Given the description of an element on the screen output the (x, y) to click on. 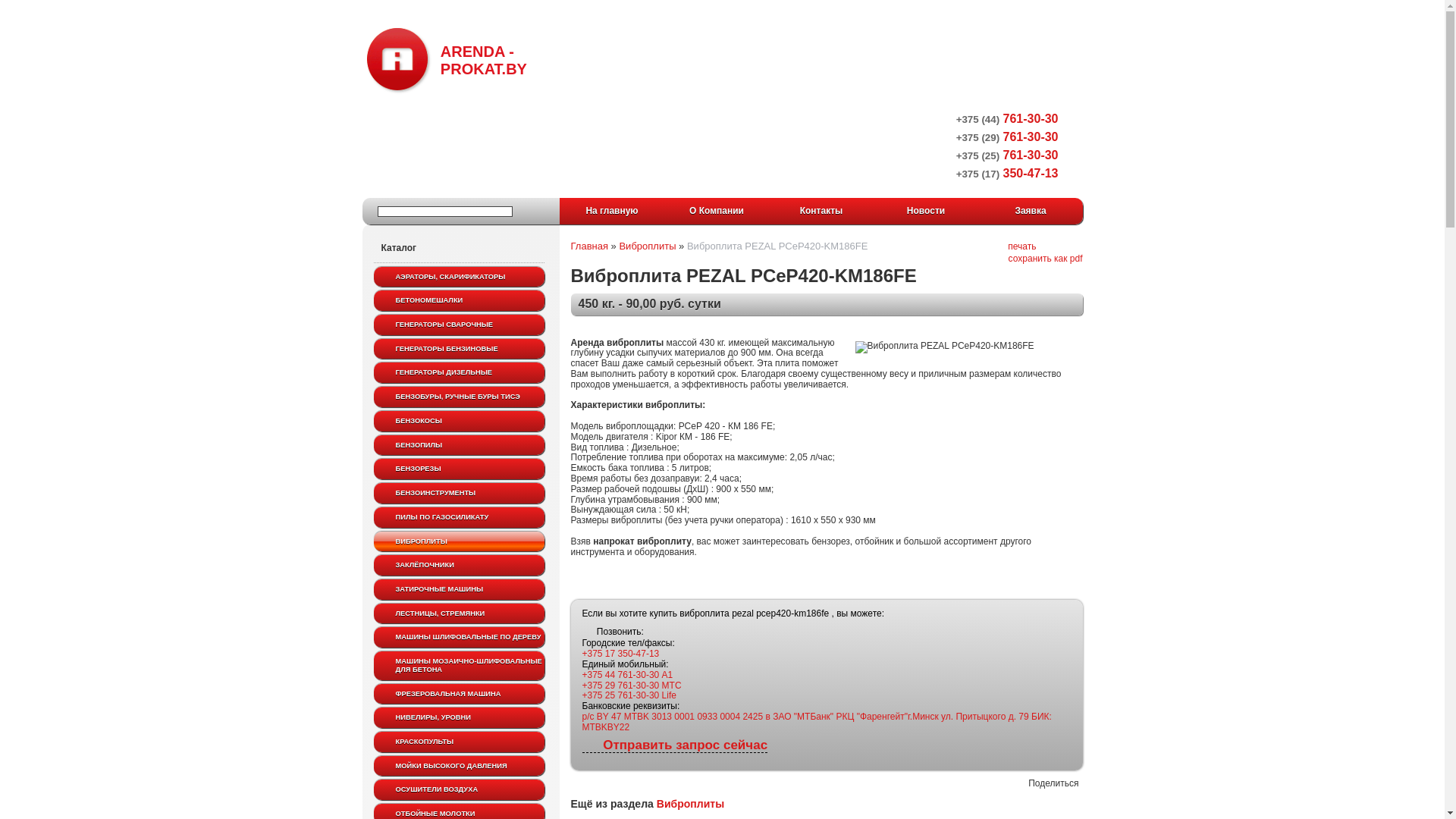
+375 17 350-47-13 Element type: text (620, 653)
+375 (17) 350-47-13 Element type: text (1007, 172)
+375 (25) 761-30-30 Element type: text (1007, 154)
+375 (44) 761-30-30 Element type: text (1007, 118)
ARENDA -
PROKAT.BY Element type: text (446, 59)
+375 (29) 761-30-30 Element type: text (1007, 136)
+375 25 761-30-30 Life Element type: text (629, 695)
+375 44 761-30-30 A1 Element type: text (627, 674)
